Given the description of an element on the screen output the (x, y) to click on. 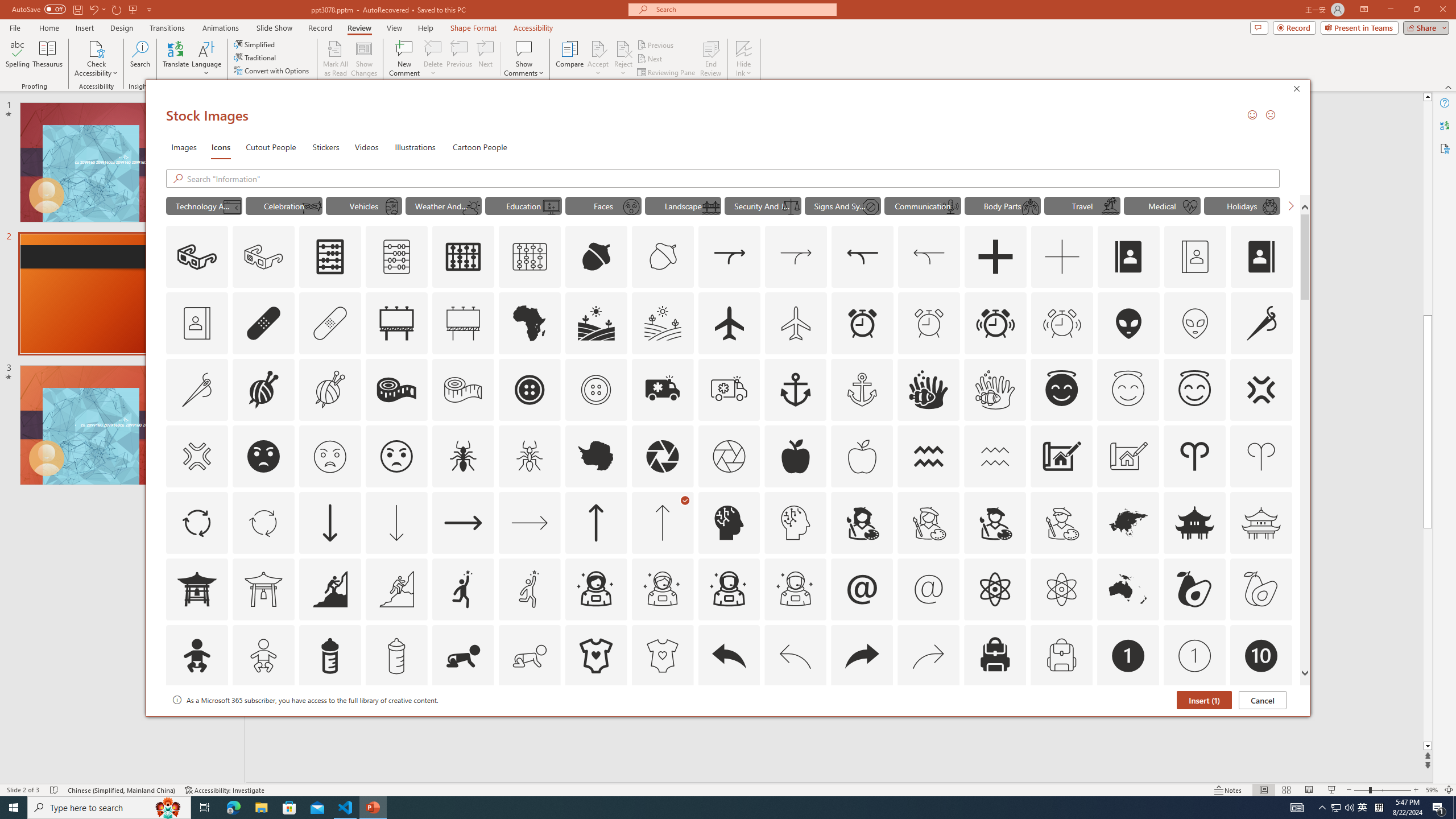
AutomationID: Icons_Add (995, 256)
AutomationID: Icons_AngryFace_M (329, 455)
AutomationID: Icons_At_M (928, 588)
AutomationID: Icons_Back_LTR_M (795, 655)
AutomationID: Icons_AlarmRinging (995, 323)
AutomationID: _134_Angel_Face_A (1061, 388)
AutomationID: Icons_Badge8_M (1128, 721)
AutomationID: Icons_ArtistMale_M (1061, 522)
